Given the description of an element on the screen output the (x, y) to click on. 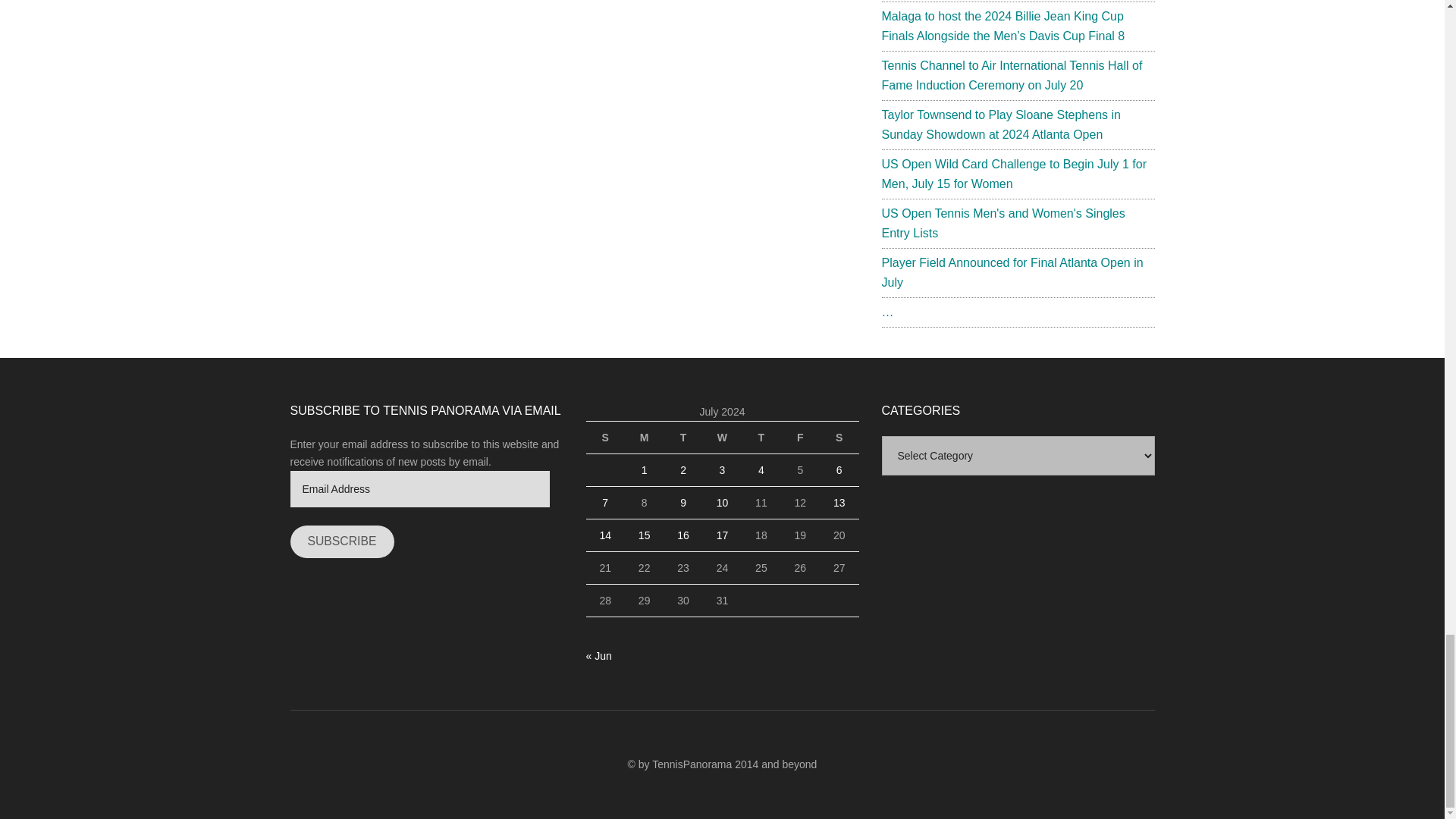
Saturday (839, 436)
Sunday (604, 436)
Monday (643, 436)
Tuesday (682, 436)
Friday (799, 436)
Thursday (760, 436)
Wednesday (722, 436)
